Given the description of an element on the screen output the (x, y) to click on. 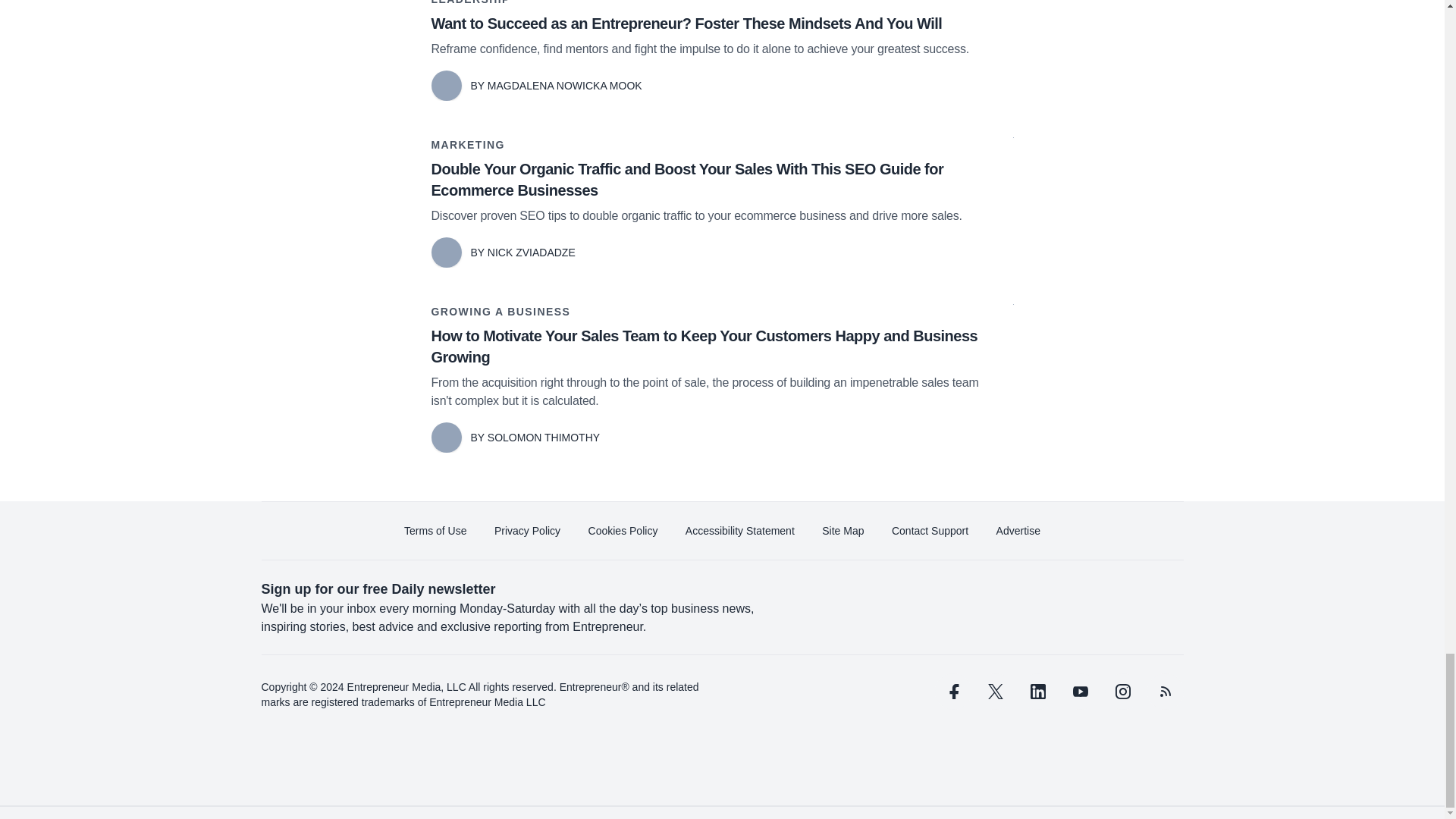
instagram (1121, 691)
facebook (952, 691)
rss (1164, 691)
twitter (994, 691)
youtube (1079, 691)
linkedin (1037, 691)
